Given the description of an element on the screen output the (x, y) to click on. 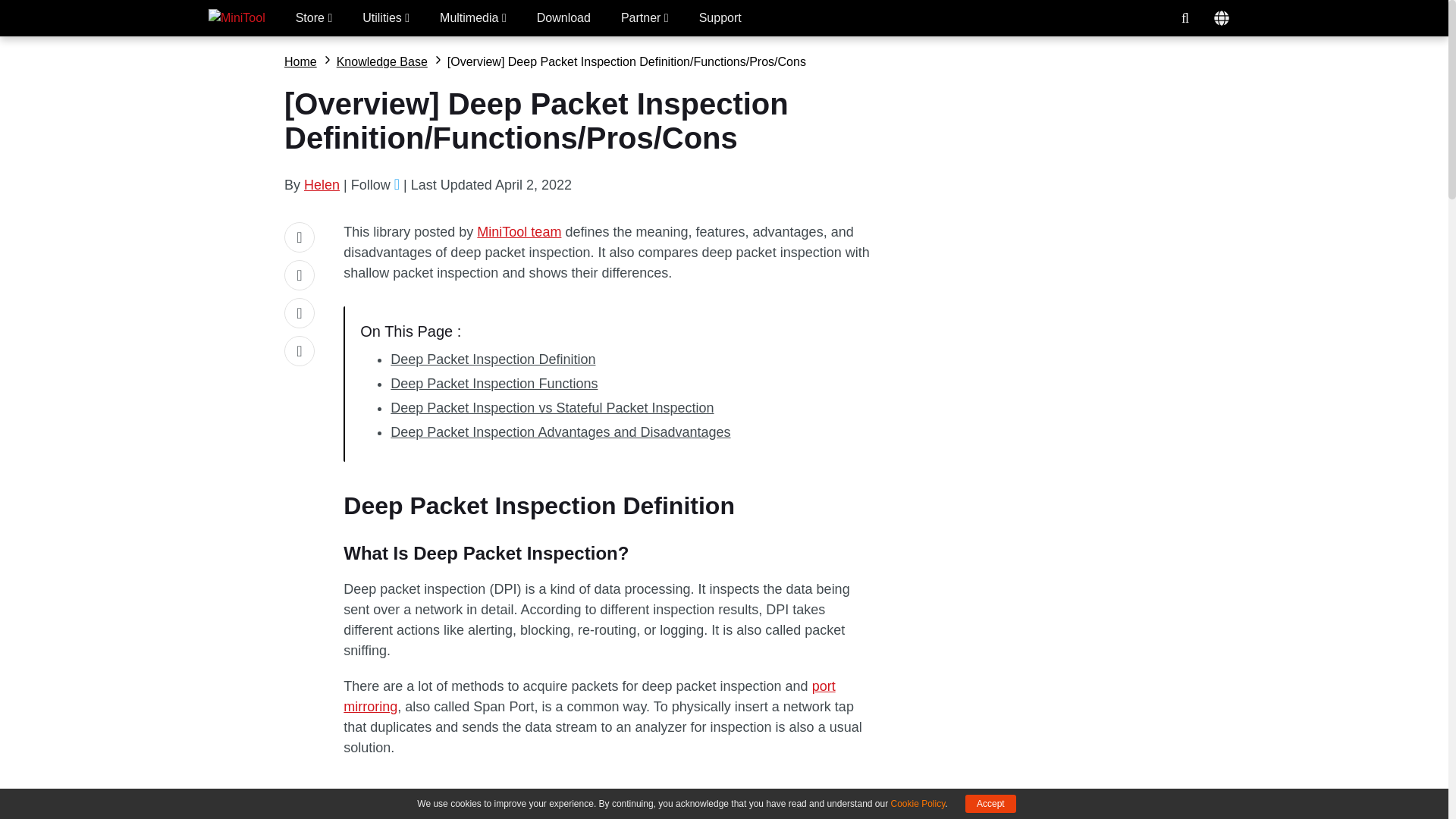
Store (314, 18)
Utilities (385, 18)
MiniTool Home (236, 17)
